Given the description of an element on the screen output the (x, y) to click on. 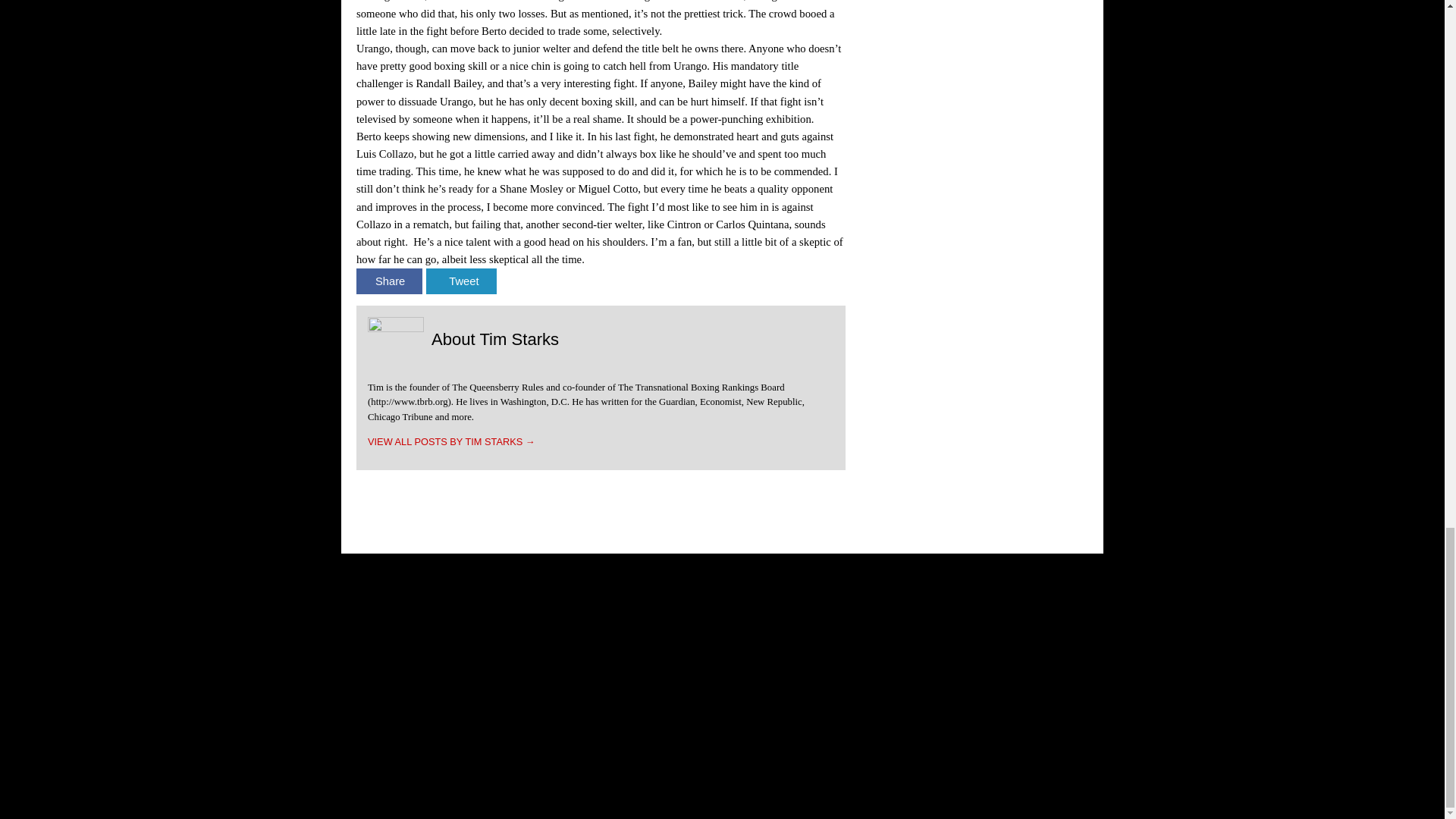
Tweet (461, 281)
Share (389, 281)
